Given the description of an element on the screen output the (x, y) to click on. 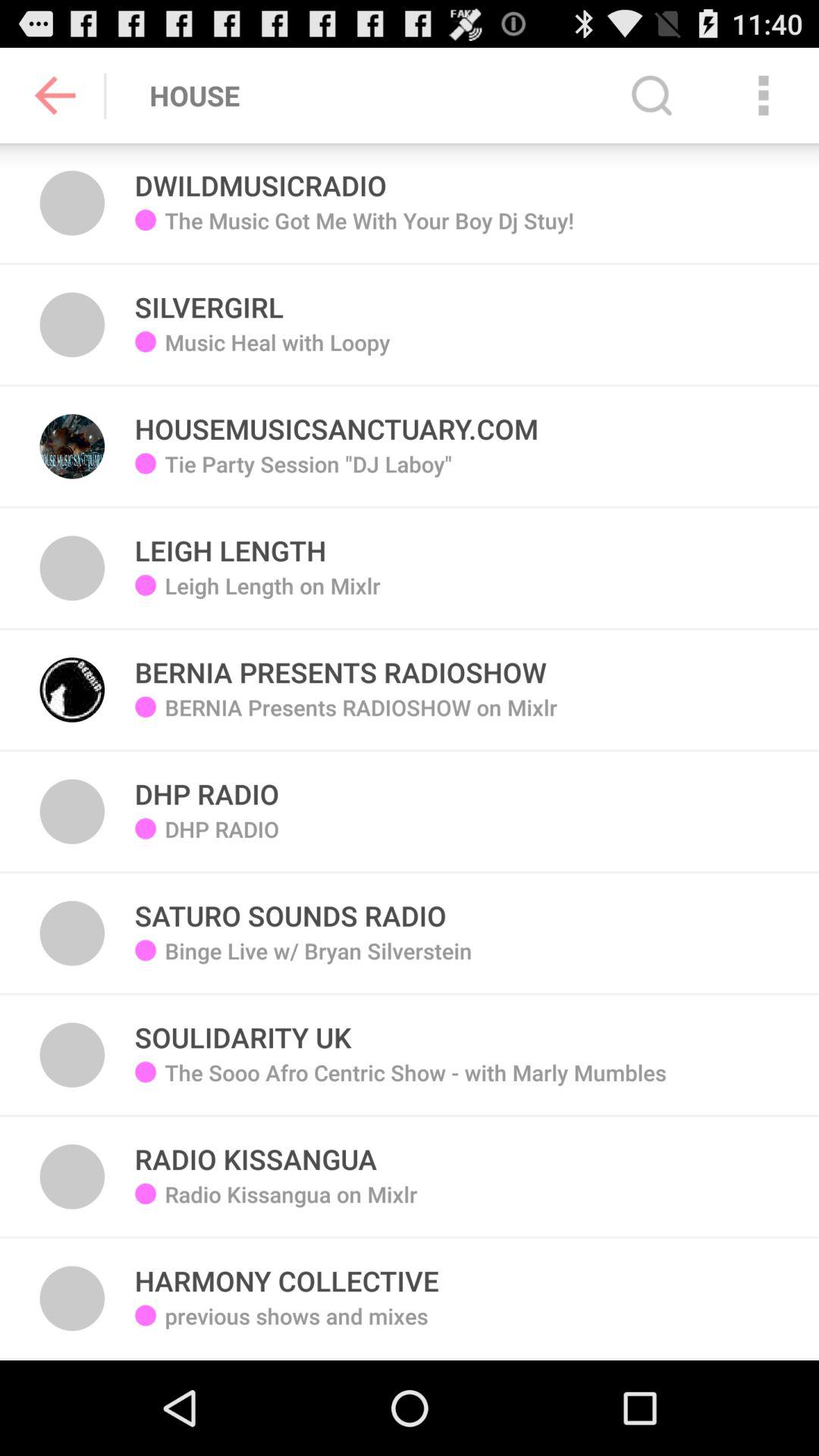
press item below the binge live w icon (415, 1083)
